Given the description of an element on the screen output the (x, y) to click on. 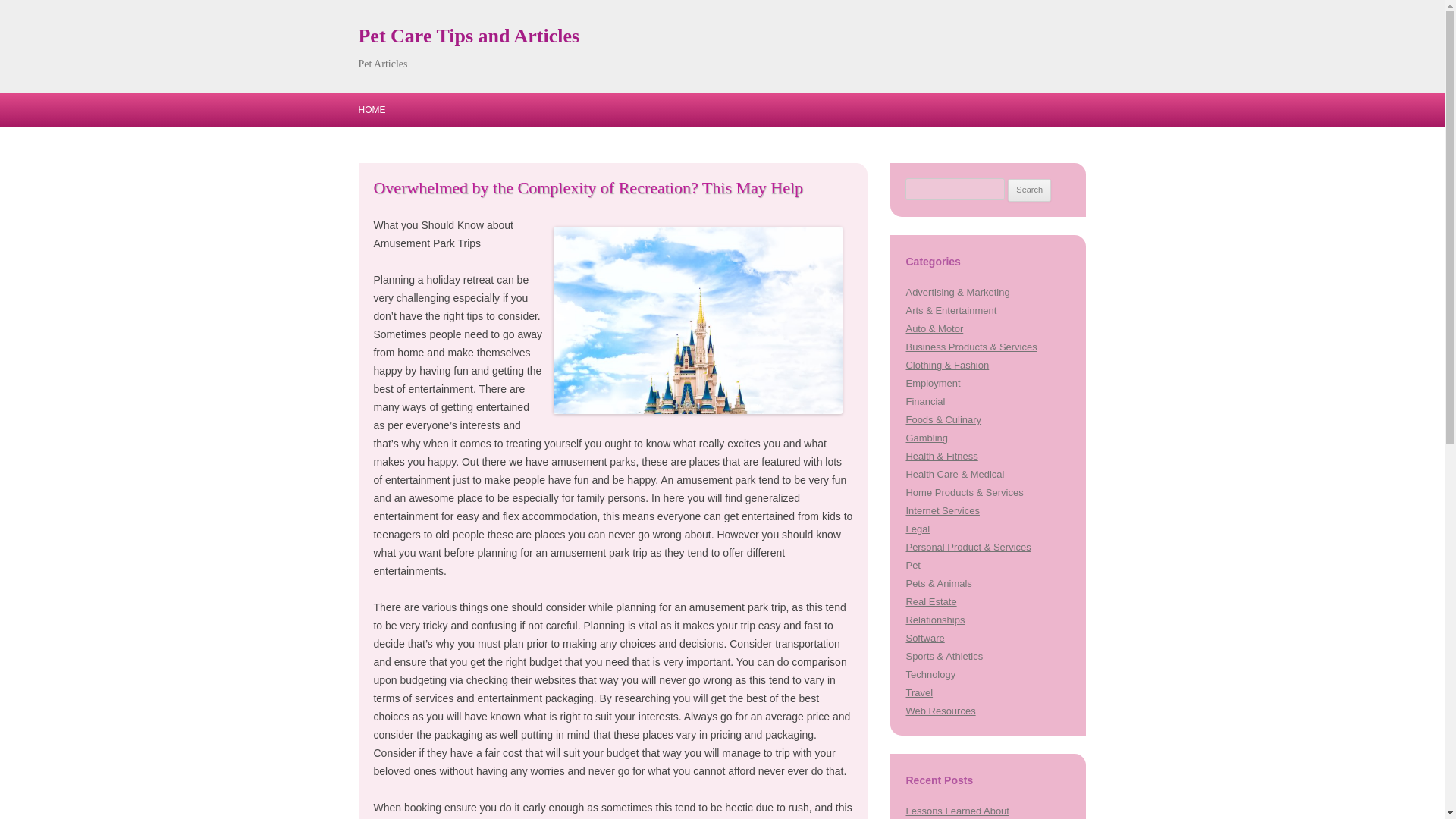
Relationships (934, 619)
Legal (917, 528)
Pet Care Tips and Articles (468, 36)
Gambling (926, 437)
Real Estate (930, 601)
Technology (930, 674)
Travel (919, 692)
Pet Care Tips and Articles (468, 36)
Web Resources (940, 710)
Software (924, 637)
Lessons Learned About (957, 810)
Search (1029, 190)
Pet (912, 564)
